Given the description of an element on the screen output the (x, y) to click on. 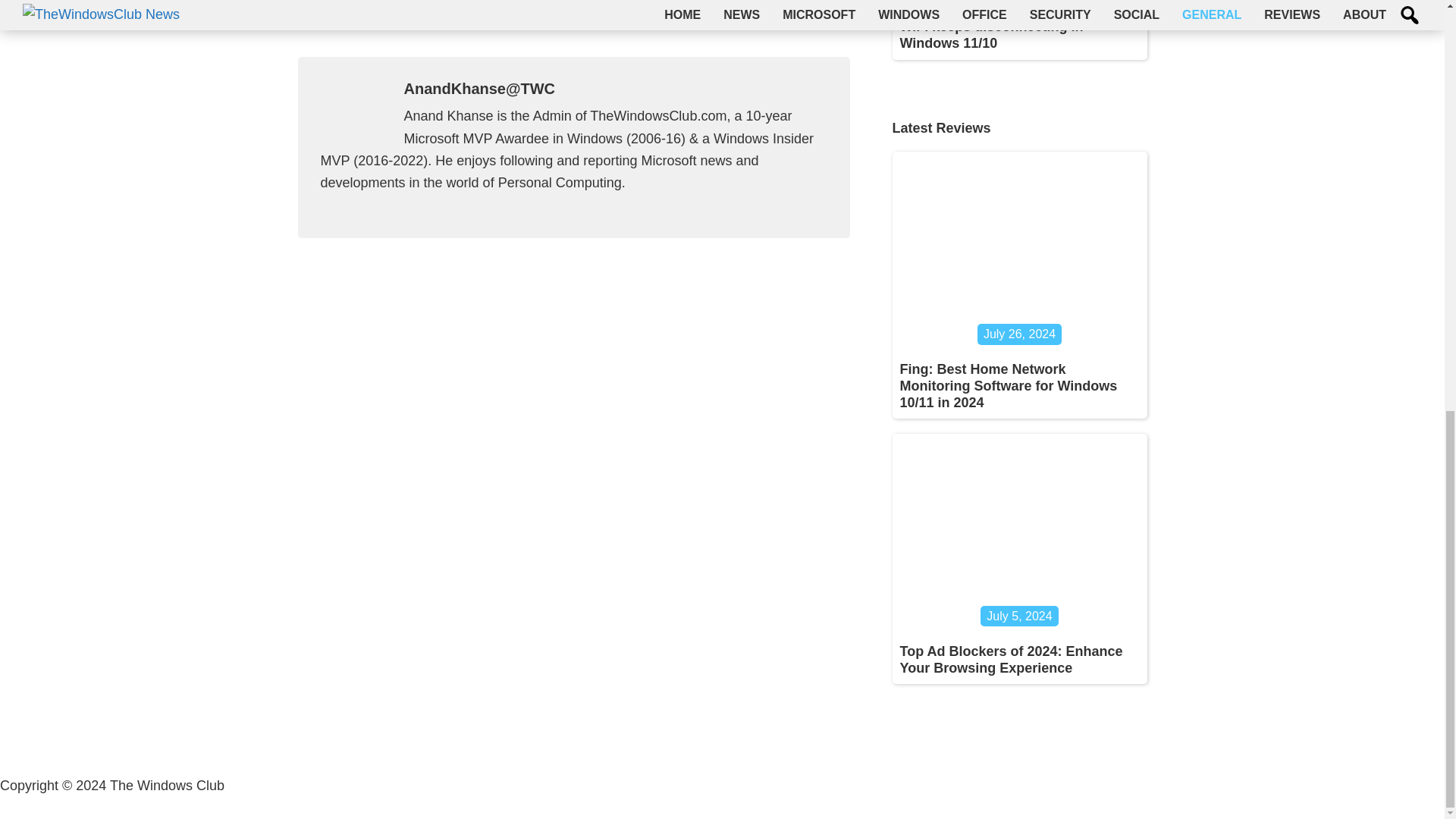
Top Ad Blockers of 2024: Enhance Your Browsing Experience (1010, 659)
Apple (831, 15)
